Given the description of an element on the screen output the (x, y) to click on. 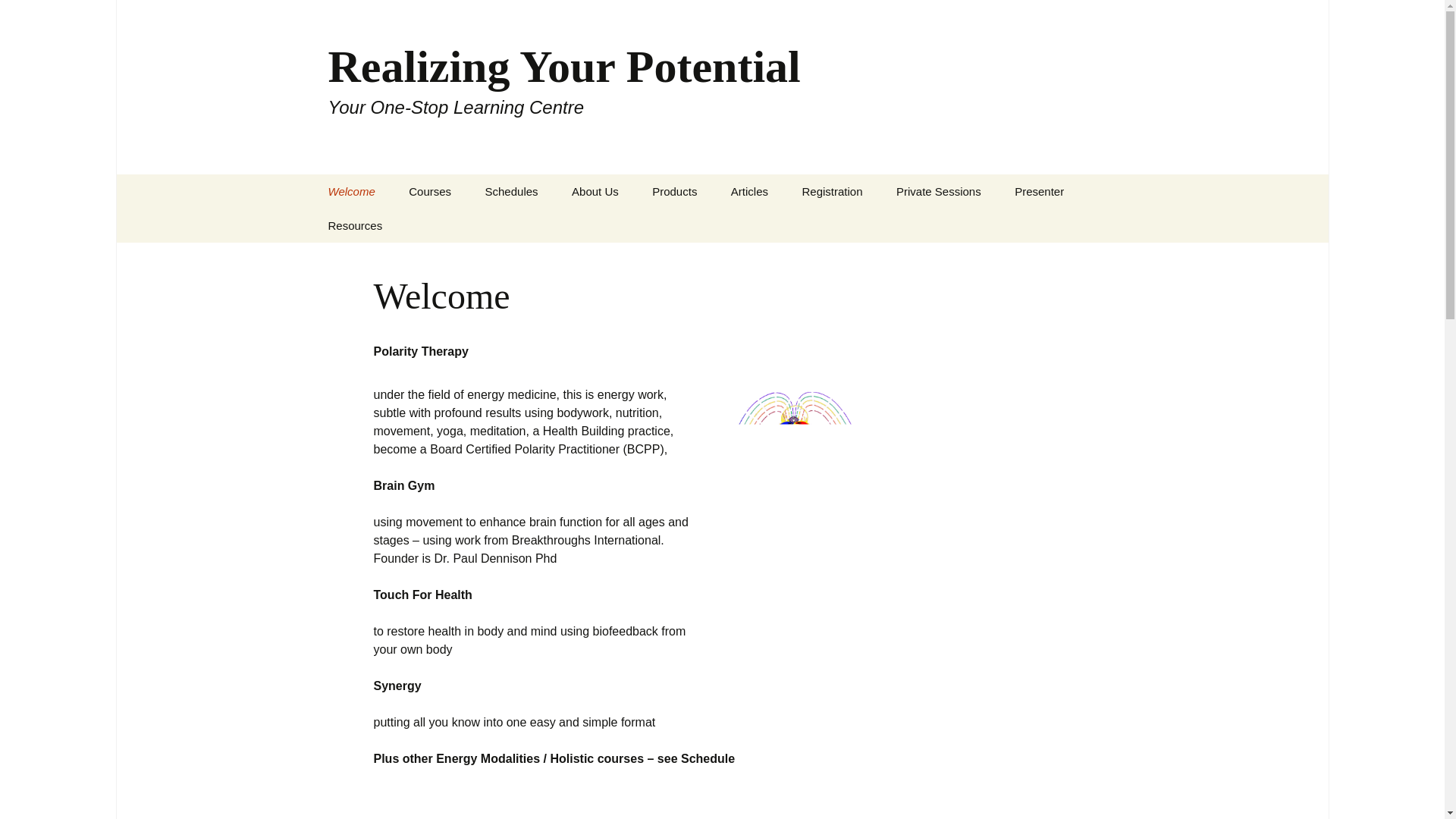
Products (674, 191)
Testimonials (429, 191)
Presenter (631, 225)
Welcome (1038, 191)
Private Sessions (351, 191)
Search (937, 191)
Articles (18, 15)
What Is Polarity Therapy? (749, 191)
